Given the description of an element on the screen output the (x, y) to click on. 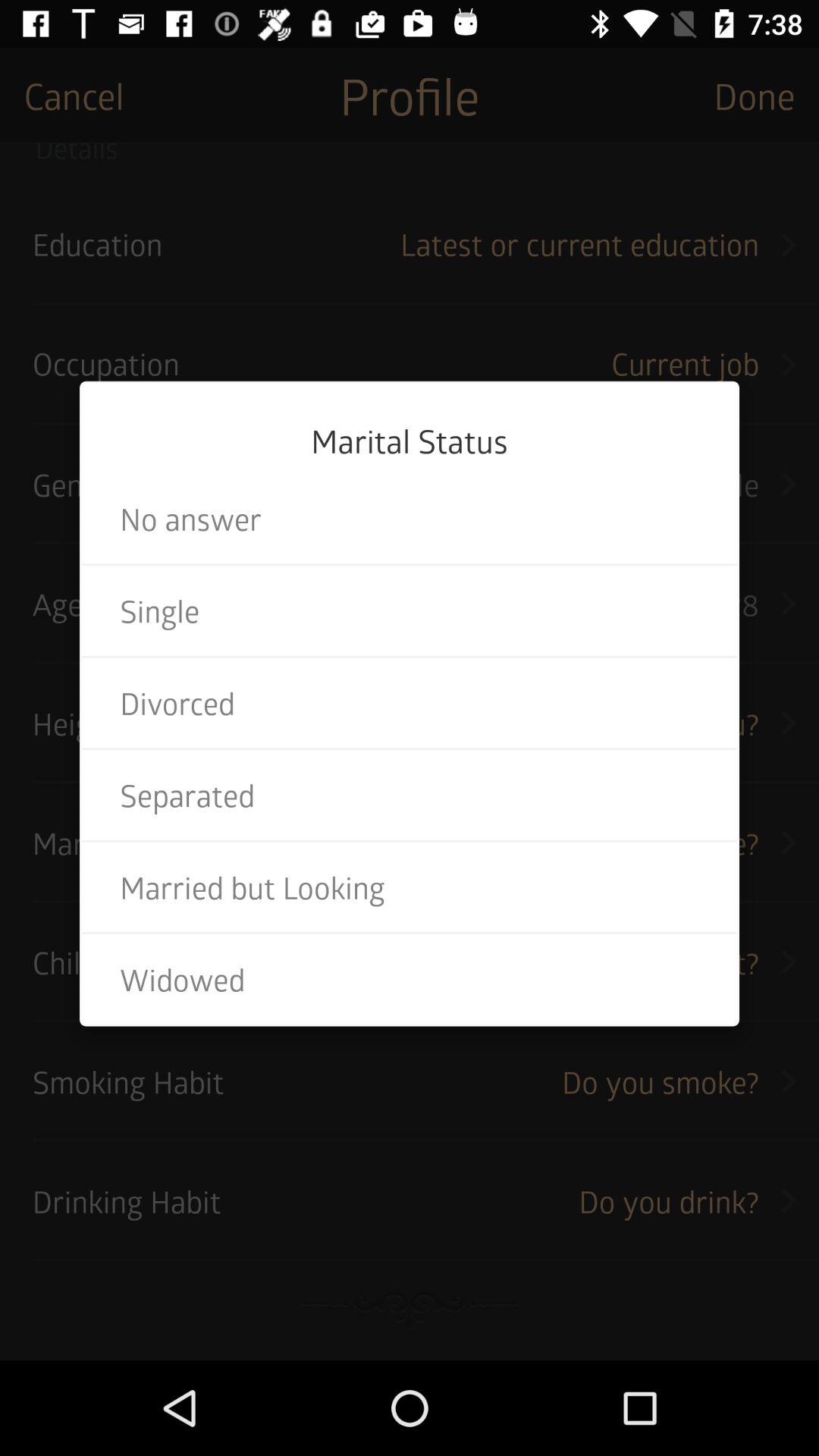
turn off the separated item (409, 795)
